Given the description of an element on the screen output the (x, y) to click on. 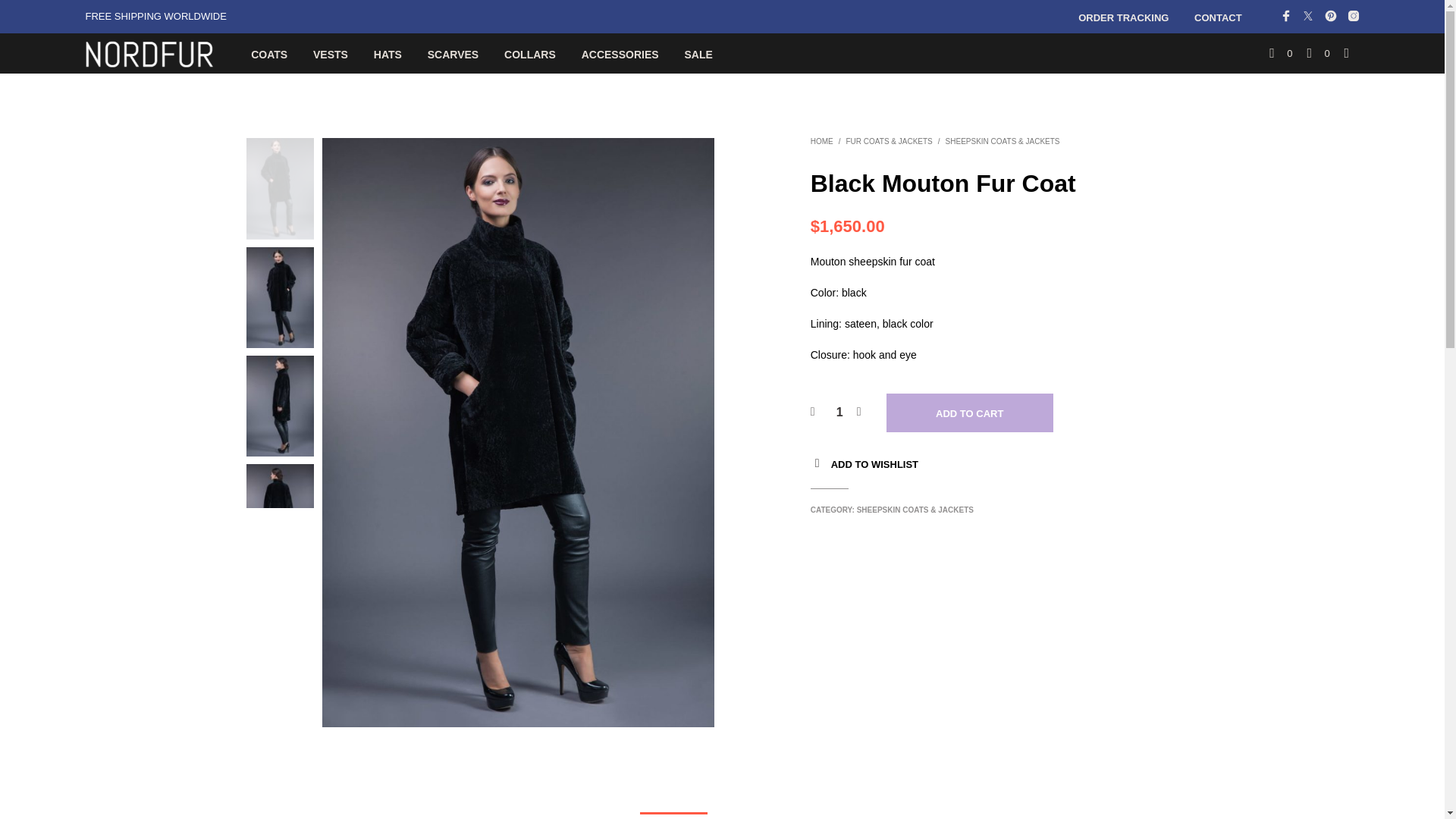
0 (1280, 53)
VESTS (330, 54)
COLLARS (530, 54)
CONTACT (1217, 17)
0 (1317, 53)
HOME (821, 141)
SALE (697, 54)
1 (839, 412)
SCARVES (452, 54)
ORDER TRACKING (1123, 17)
COATS (269, 54)
HATS (387, 54)
ACCESSORIES (619, 54)
ADD TO CART (969, 412)
ADD TO WISHLIST (874, 464)
